Given the description of an element on the screen output the (x, y) to click on. 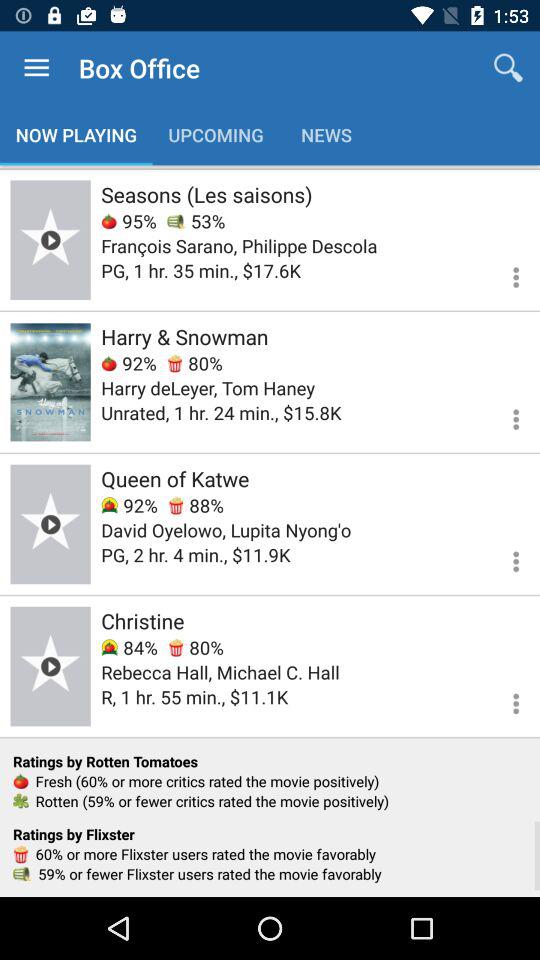
turn off the rebecca hall michael item (220, 672)
